Given the description of an element on the screen output the (x, y) to click on. 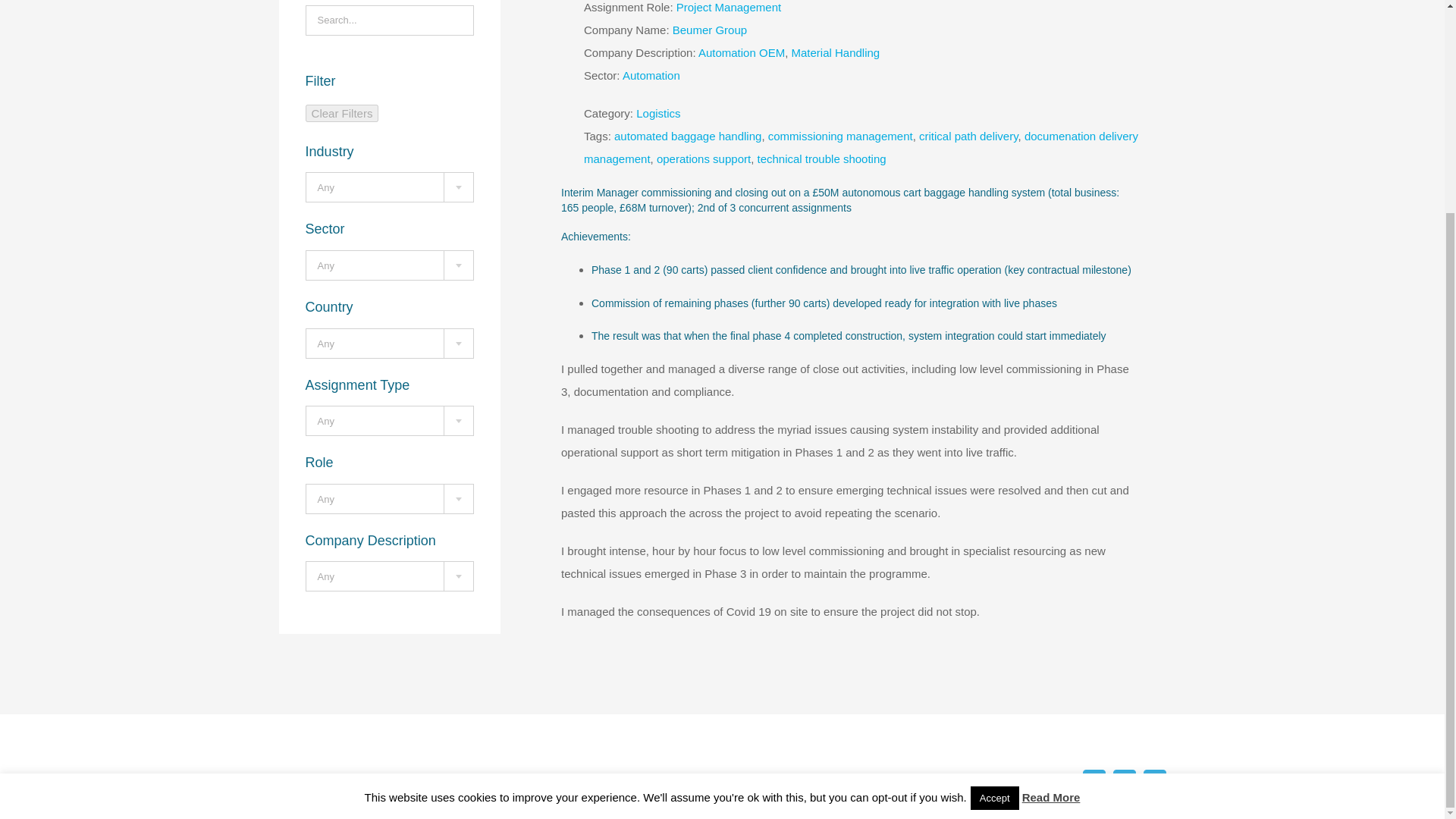
Any (389, 187)
Material Handling (834, 51)
automated baggage handling (687, 135)
Any (389, 499)
Beumer Group (709, 29)
Any (389, 421)
Project Management (728, 6)
Any (389, 344)
commissioning management (840, 135)
Automation (651, 74)
